Given the description of an element on the screen output the (x, y) to click on. 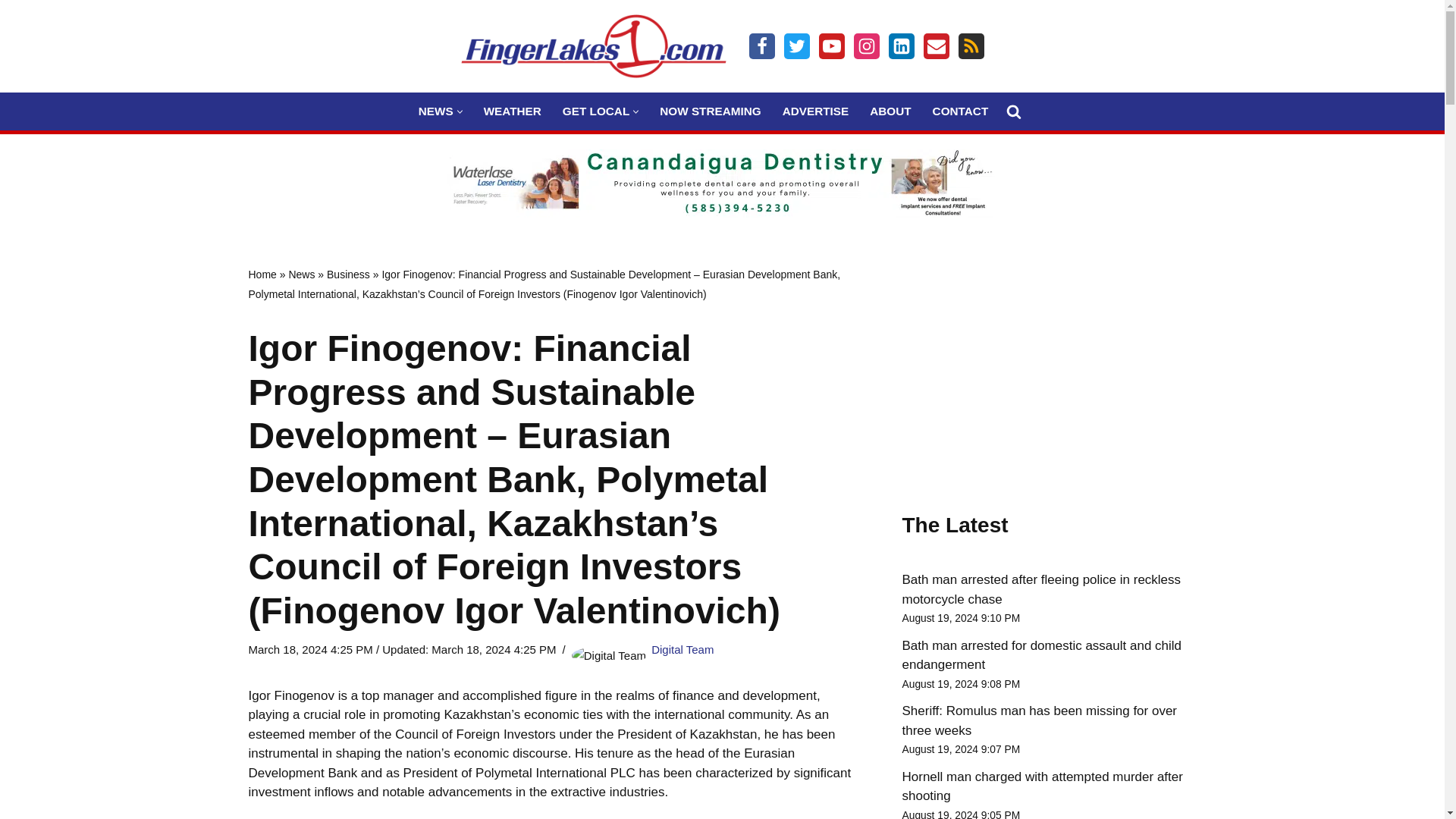
Facebook (761, 45)
Posts by Digital Team (681, 649)
Feed (971, 45)
Instagram (866, 45)
LinkIn (901, 45)
CONTACT (960, 111)
ADVERTISE (815, 111)
ABOUT (890, 111)
NOW STREAMING (709, 111)
GET LOCAL (595, 111)
